Given the description of an element on the screen output the (x, y) to click on. 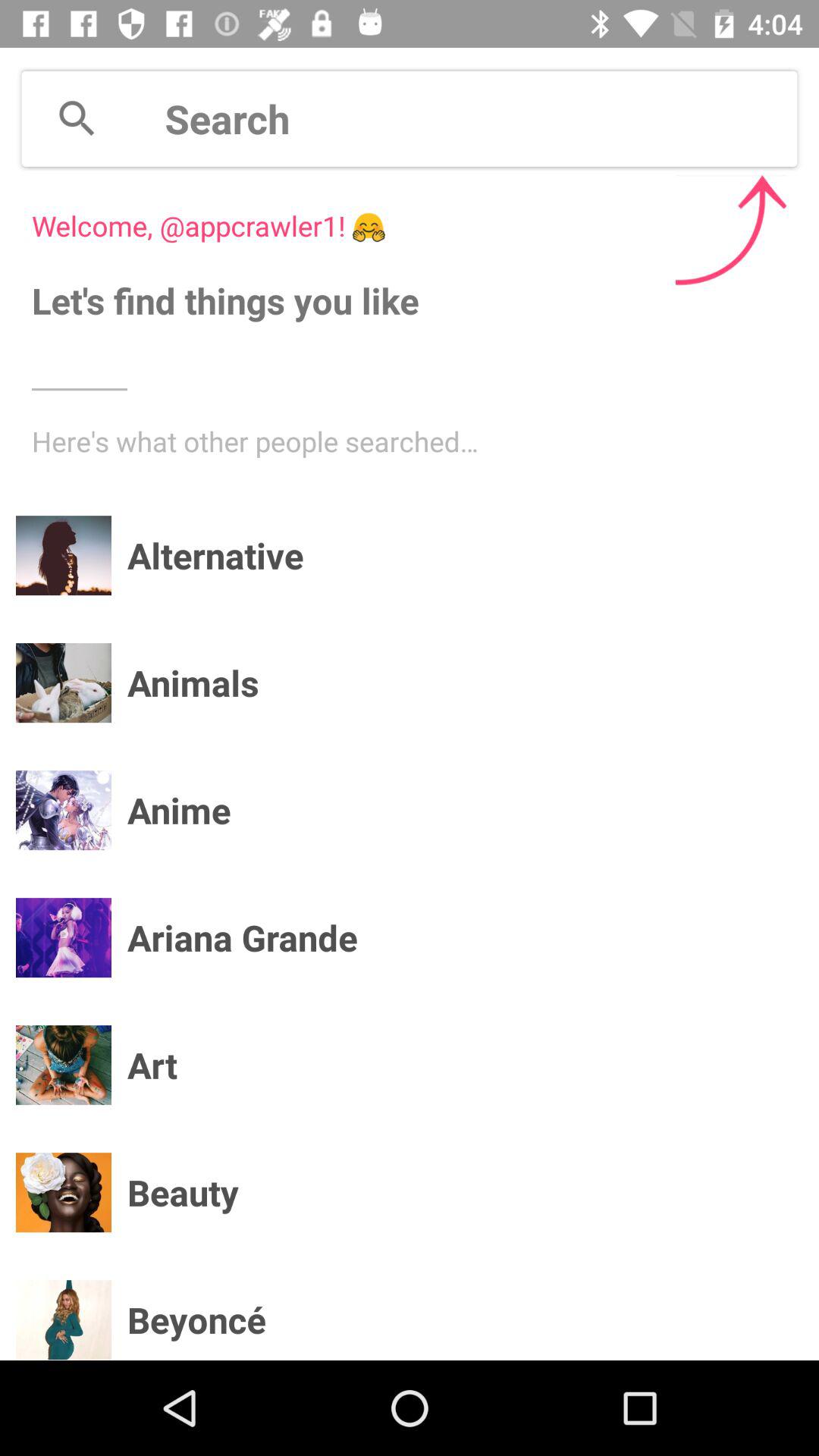
initiate search (77, 118)
